Given the description of an element on the screen output the (x, y) to click on. 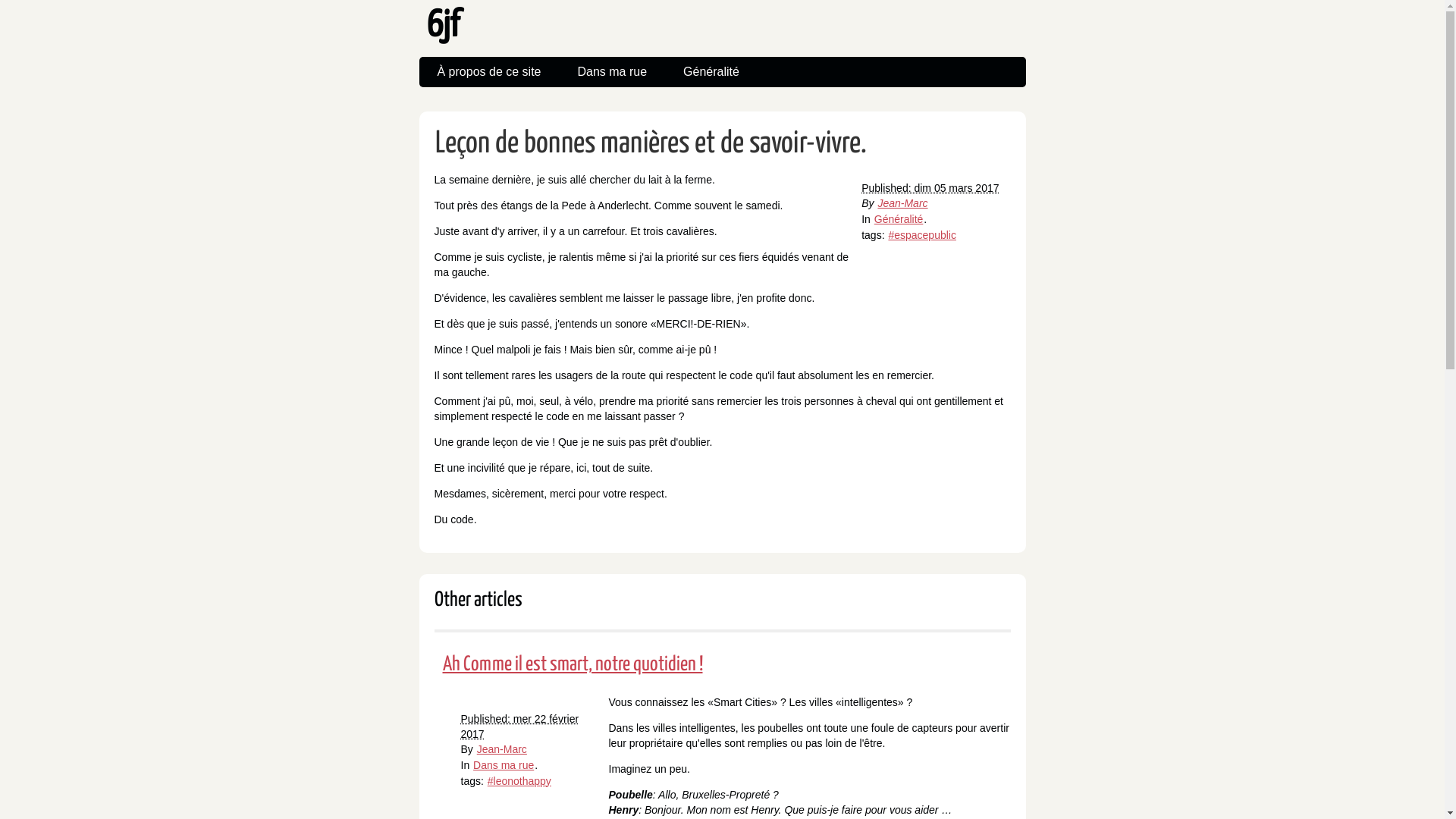
Jean-Marc Element type: text (501, 749)
Jean-Marc Element type: text (902, 203)
#leonothappy Element type: text (519, 781)
Dans ma rue Element type: text (503, 765)
#espacepublic Element type: text (922, 235)
Ah Comme il est smart, notre quotidien ! Element type: text (571, 664)
Dans ma rue Element type: text (611, 71)
